Given the description of an element on the screen output the (x, y) to click on. 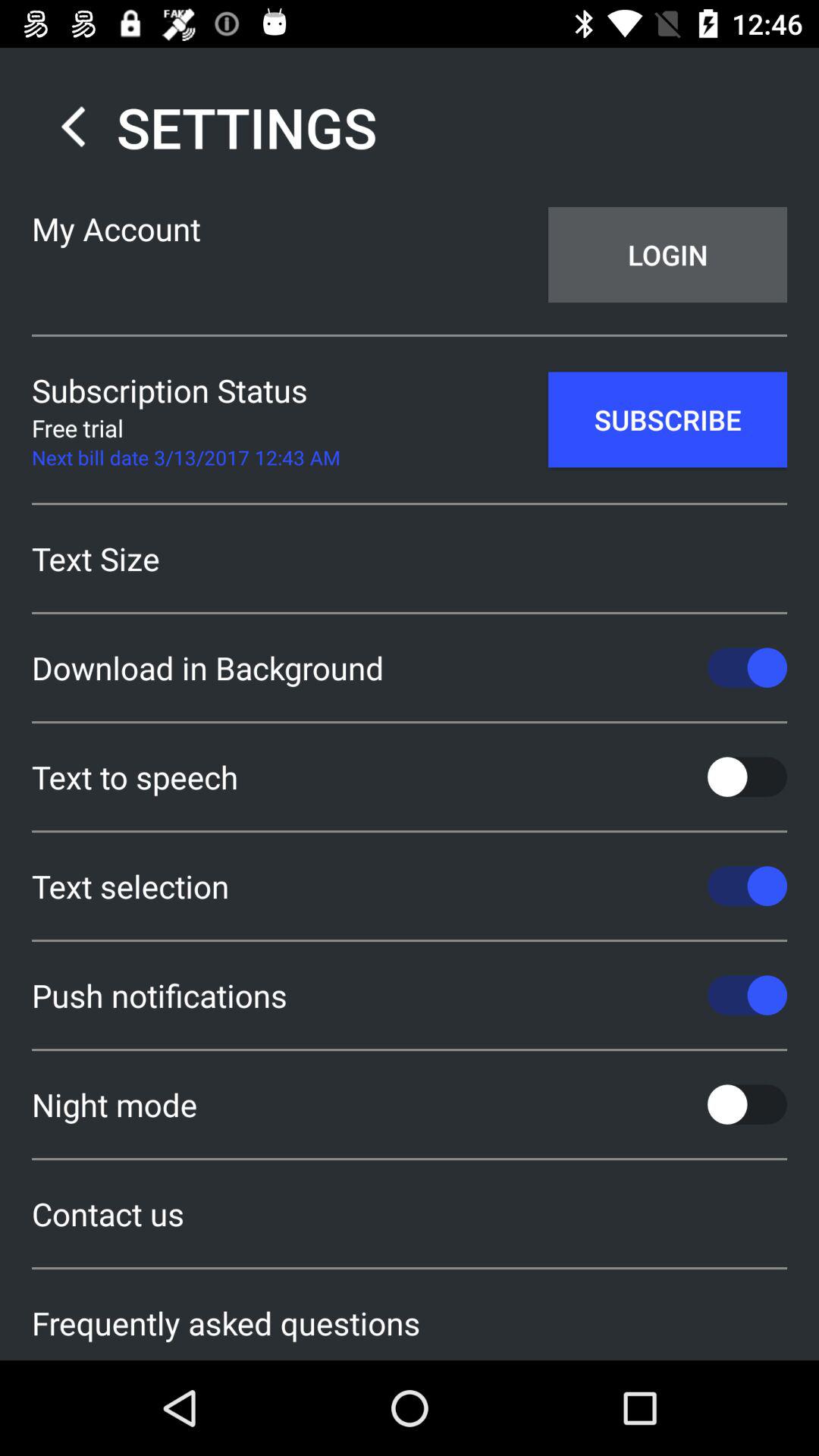
jump to the settings (204, 127)
